Given the description of an element on the screen output the (x, y) to click on. 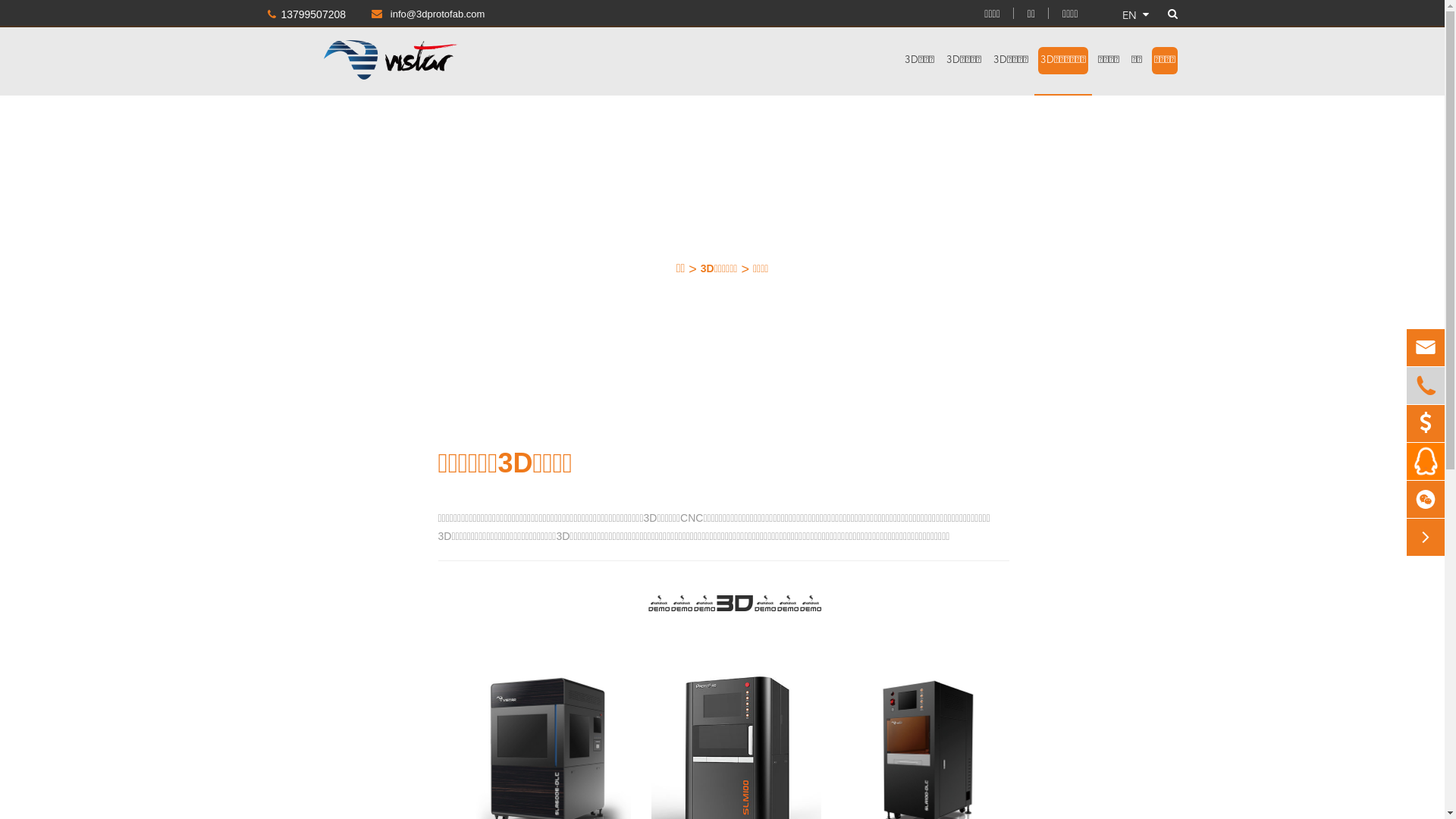
info@3dprotofab.com Element type: text (416, 13)
. Element type: text (1425, 461)
0 Element type: text (1425, 423)
